Given the description of an element on the screen output the (x, y) to click on. 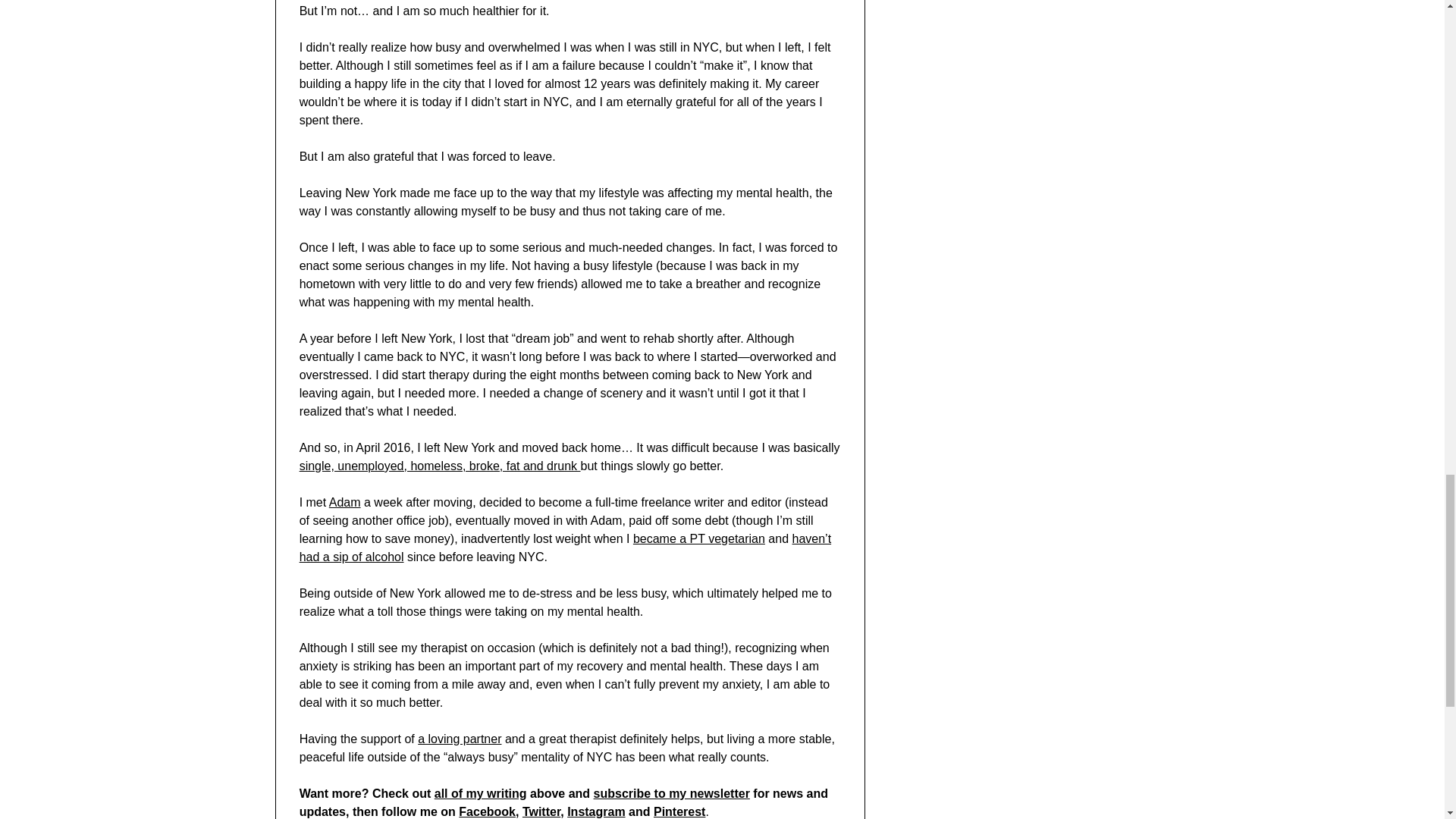
became a PT vegetarian (699, 538)
subscribe to my newsletter (671, 793)
Pinterest (678, 811)
all of my writing (480, 793)
a loving partner (458, 738)
Adam (345, 502)
single, unemployed, homeless, broke, fat and drunk (439, 465)
Twitter (541, 811)
Instagram (595, 811)
Facebook (486, 811)
